Given the description of an element on the screen output the (x, y) to click on. 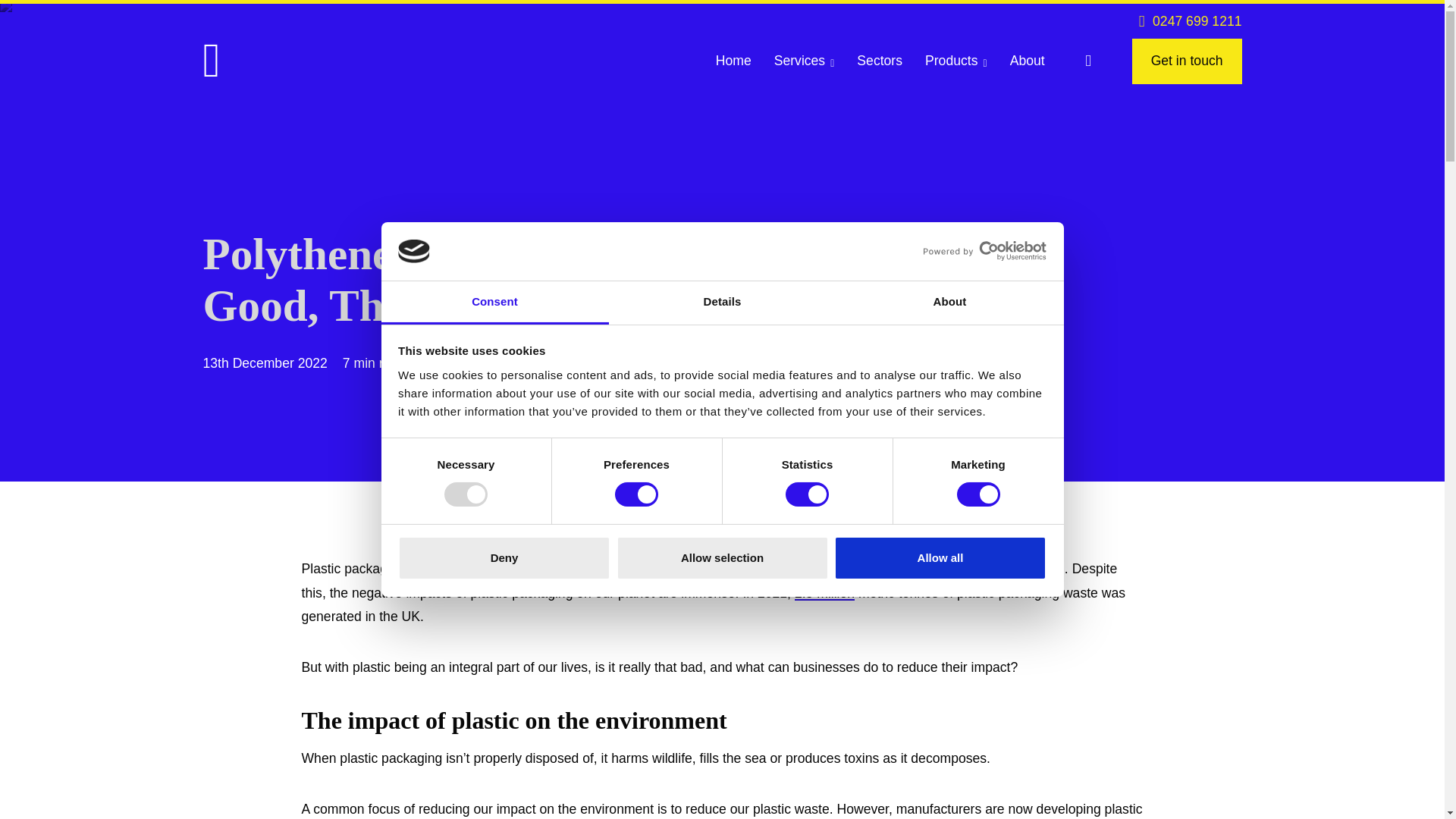
Allow all (940, 557)
About (948, 302)
Details (721, 302)
Consent (494, 302)
Deny (503, 557)
Allow selection (721, 557)
